Given the description of an element on the screen output the (x, y) to click on. 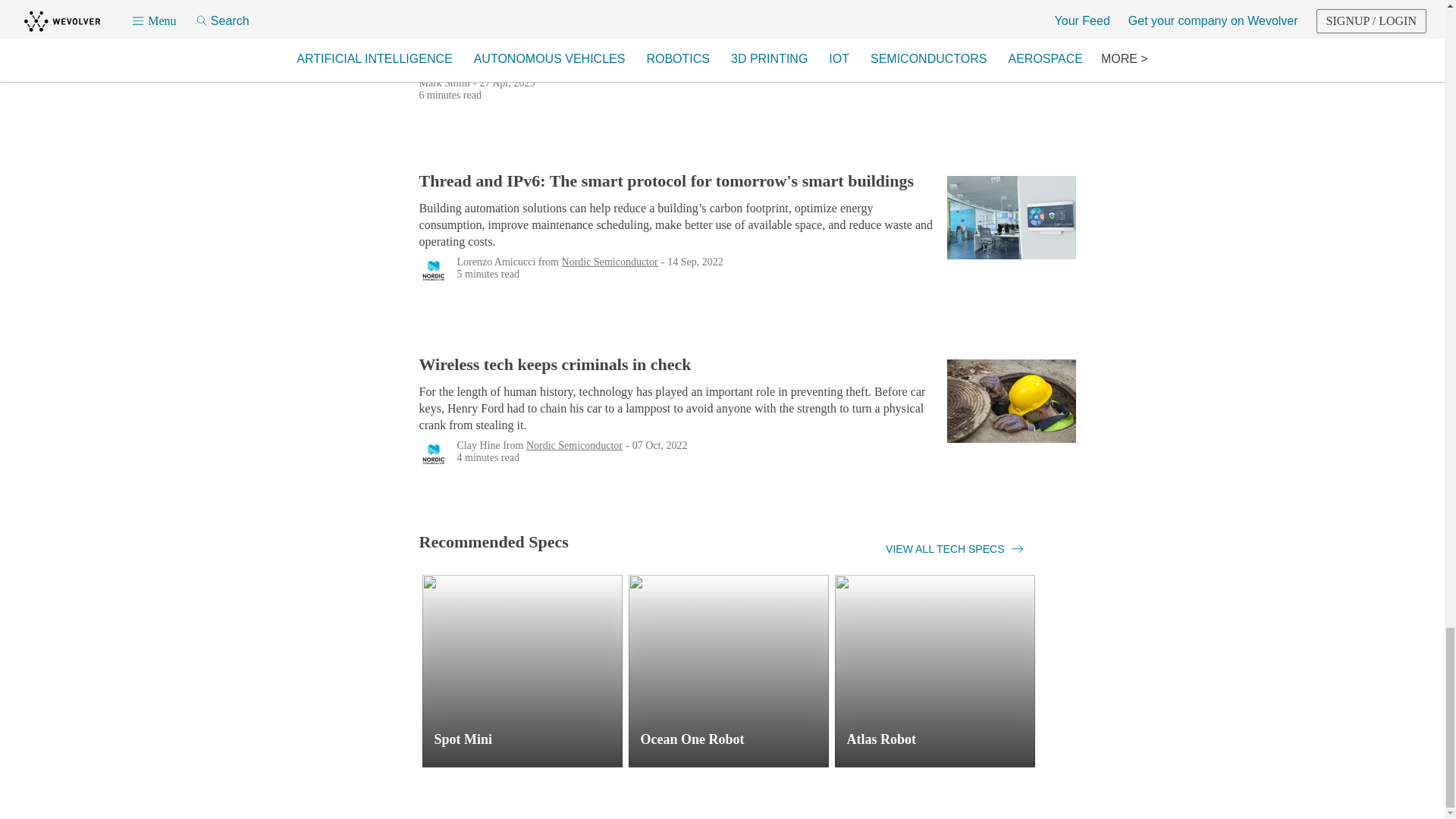
Lorenzo Amicucci (496, 260)
Nordic Semiconductor (610, 260)
Wireless tech keeps criminals in check (679, 364)
Mark Smith (443, 81)
